Given the description of an element on the screen output the (x, y) to click on. 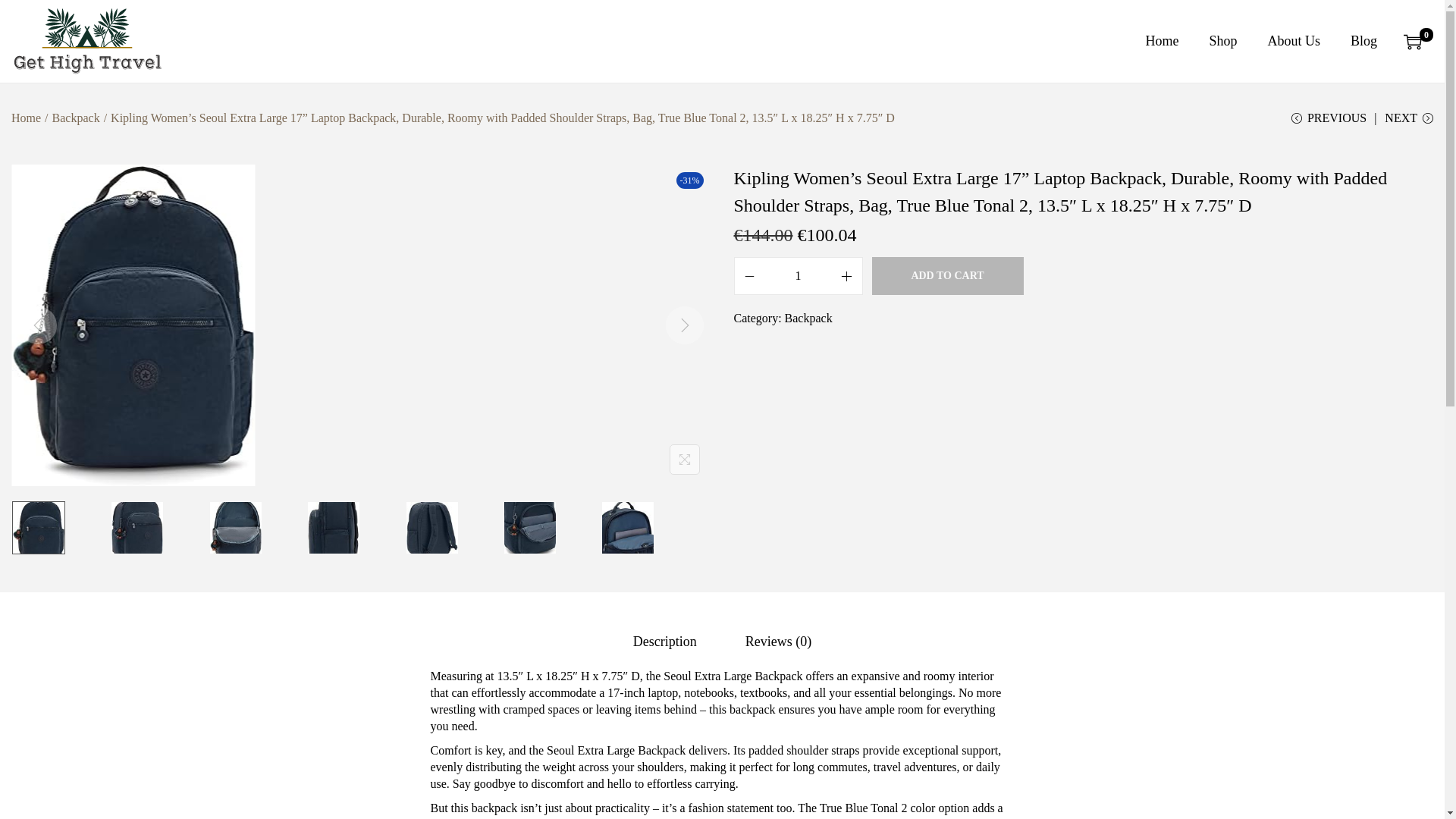
1 (797, 275)
Home (25, 117)
NEXT (1408, 123)
ADD TO CART (947, 275)
PREVIOUS (1329, 123)
Description (665, 641)
Backpack (808, 318)
0 (1412, 40)
Backpack (76, 117)
